Given the description of an element on the screen output the (x, y) to click on. 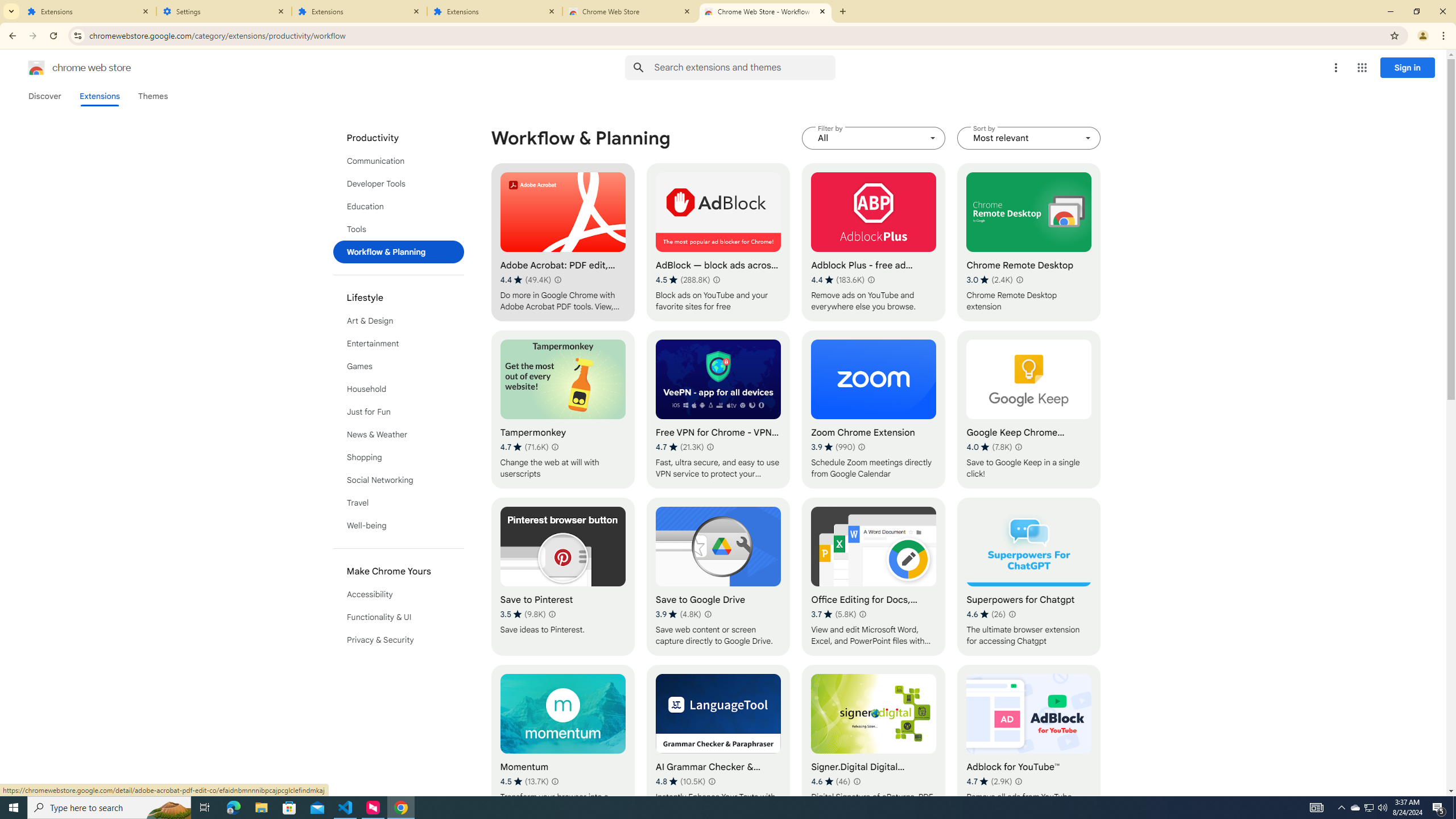
Average rating 3.0 out of 5 stars. 2.4K ratings. (989, 279)
Just for Fun (398, 411)
Settings (224, 11)
Average rating 4.4 out of 5 stars. 49.4K ratings. (525, 279)
Chrome Web Store - Workflow & Planning (765, 11)
Average rating 3.7 out of 5 stars. 5.8K ratings. (833, 613)
Entertainment (398, 343)
Chrome Web Store (630, 11)
Extensions (359, 11)
Average rating 4.6 out of 5 stars. 26 ratings. (986, 613)
Average rating 4.5 out of 5 stars. 288.8K ratings. (682, 279)
Games (398, 365)
